Given the description of an element on the screen output the (x, y) to click on. 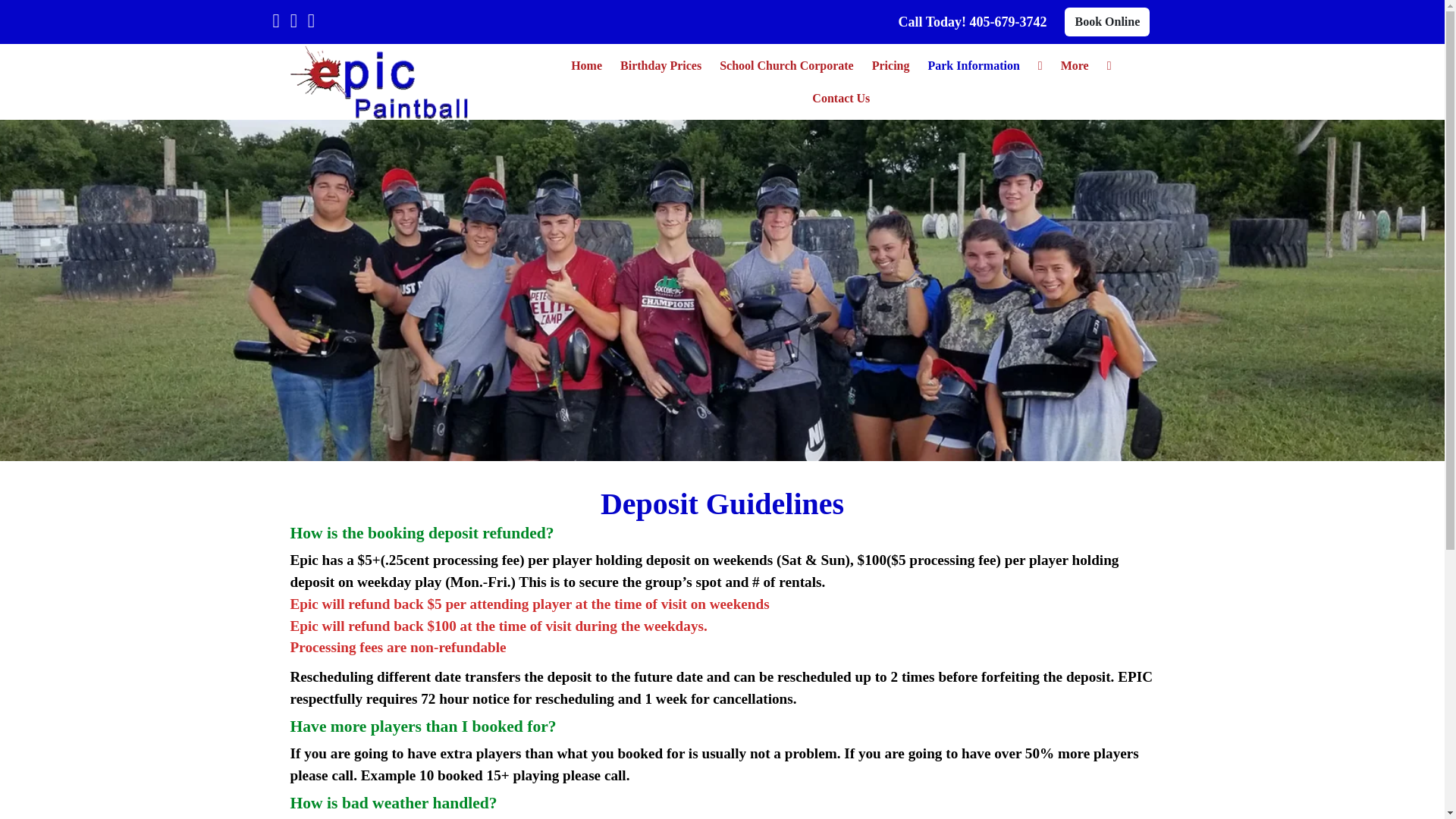
Pricing (890, 65)
More (1074, 65)
Book Online (1107, 21)
Birthday Prices (660, 65)
Call Today! 405-679-3742 (972, 20)
School Church Corporate (786, 65)
Home (586, 65)
Park Information (972, 65)
Contact Us (841, 97)
